Given the description of an element on the screen output the (x, y) to click on. 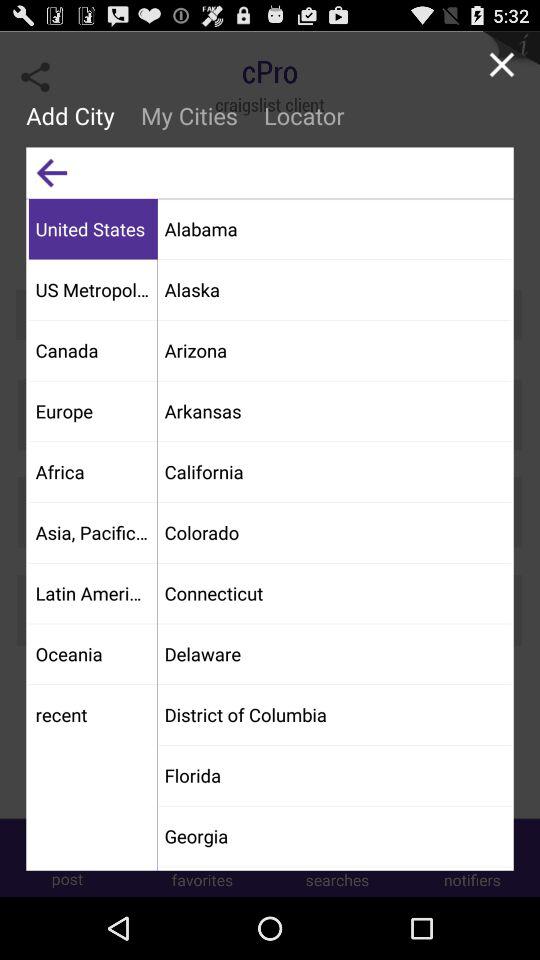
tap asia pacific and icon (92, 532)
